Given the description of an element on the screen output the (x, y) to click on. 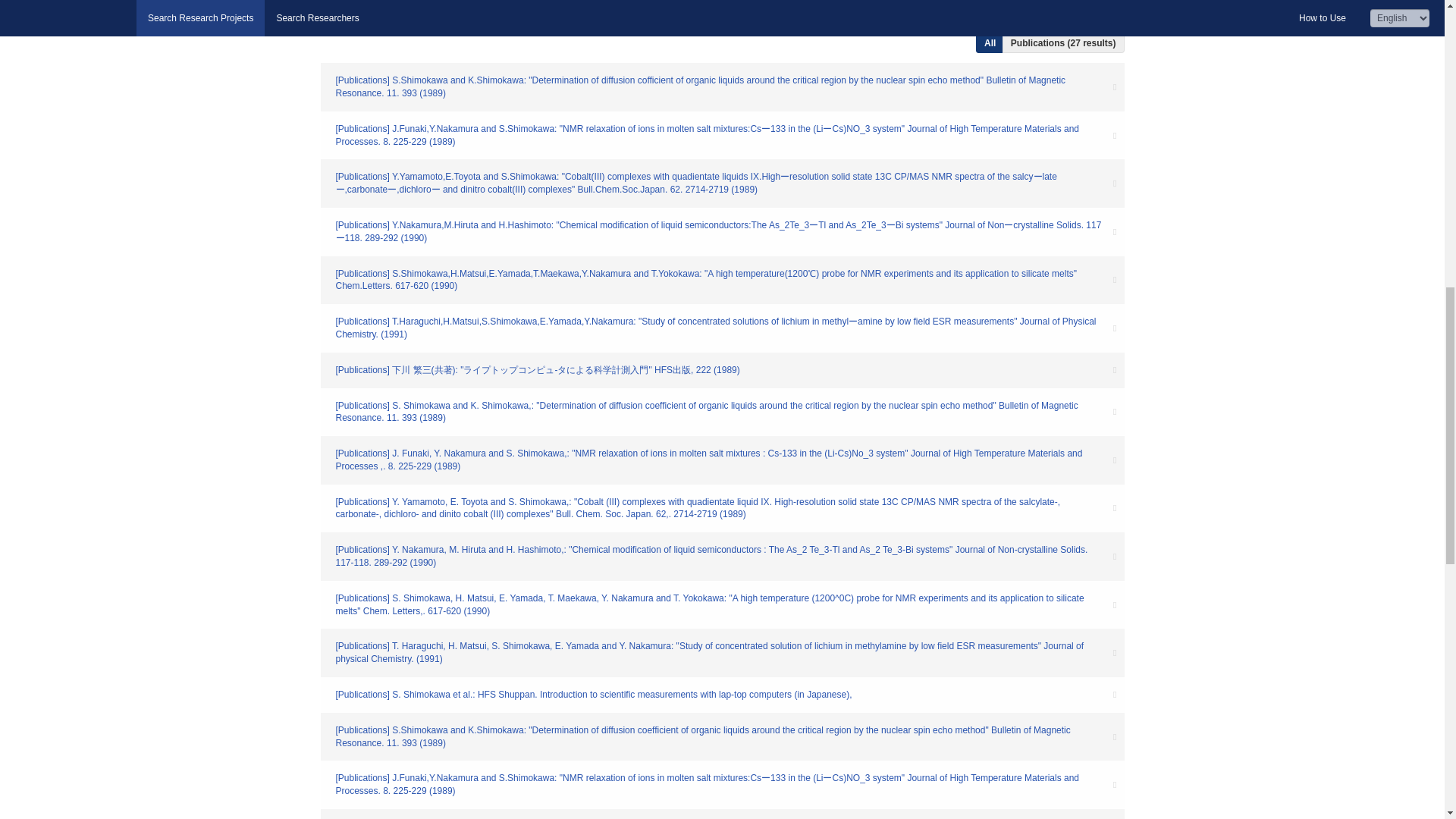
Other (1103, 18)
All (989, 43)
All (1070, 18)
